Given the description of an element on the screen output the (x, y) to click on. 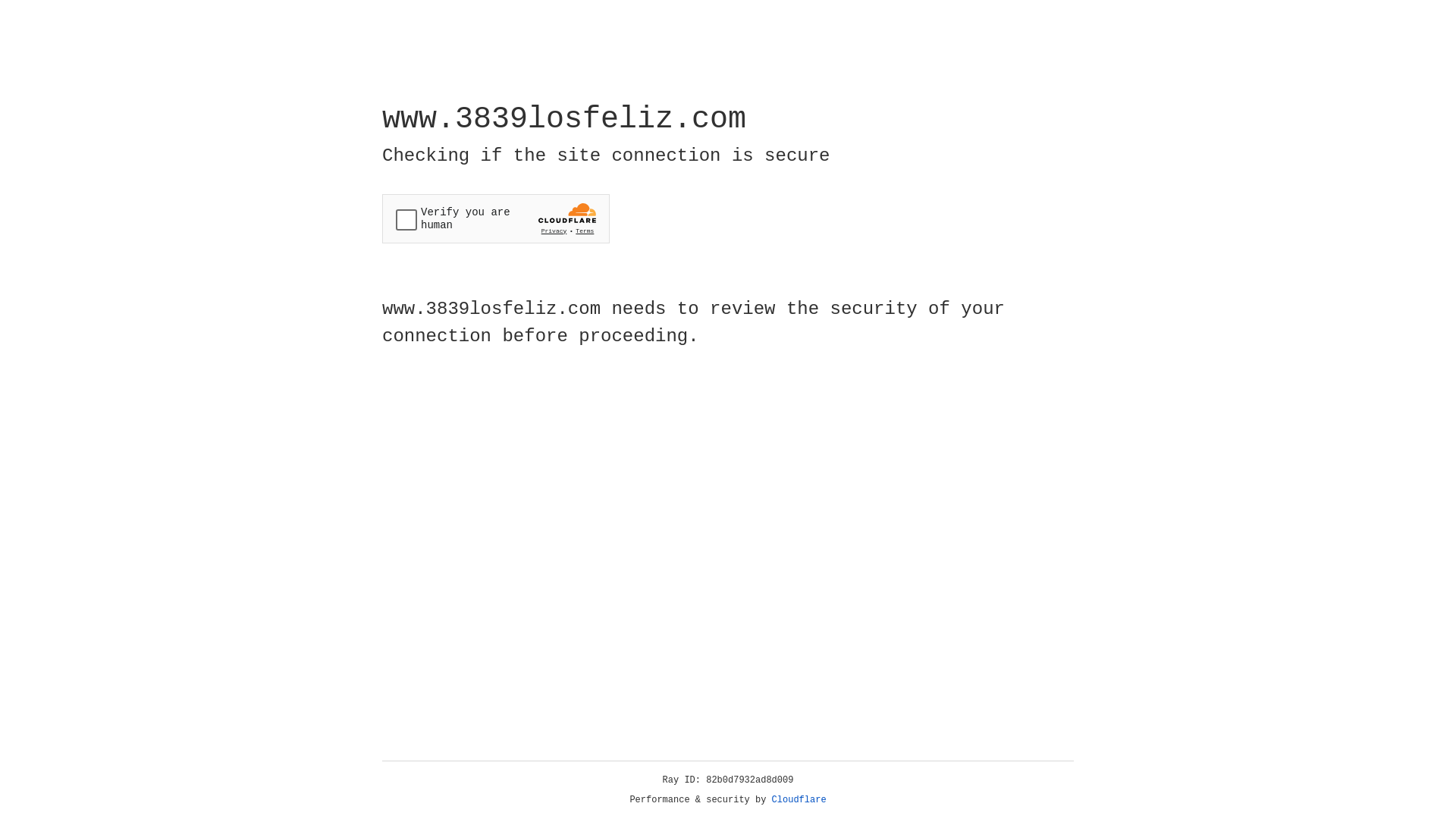
Cloudflare Element type: text (798, 799)
Widget containing a Cloudflare security challenge Element type: hover (495, 218)
